Given the description of an element on the screen output the (x, y) to click on. 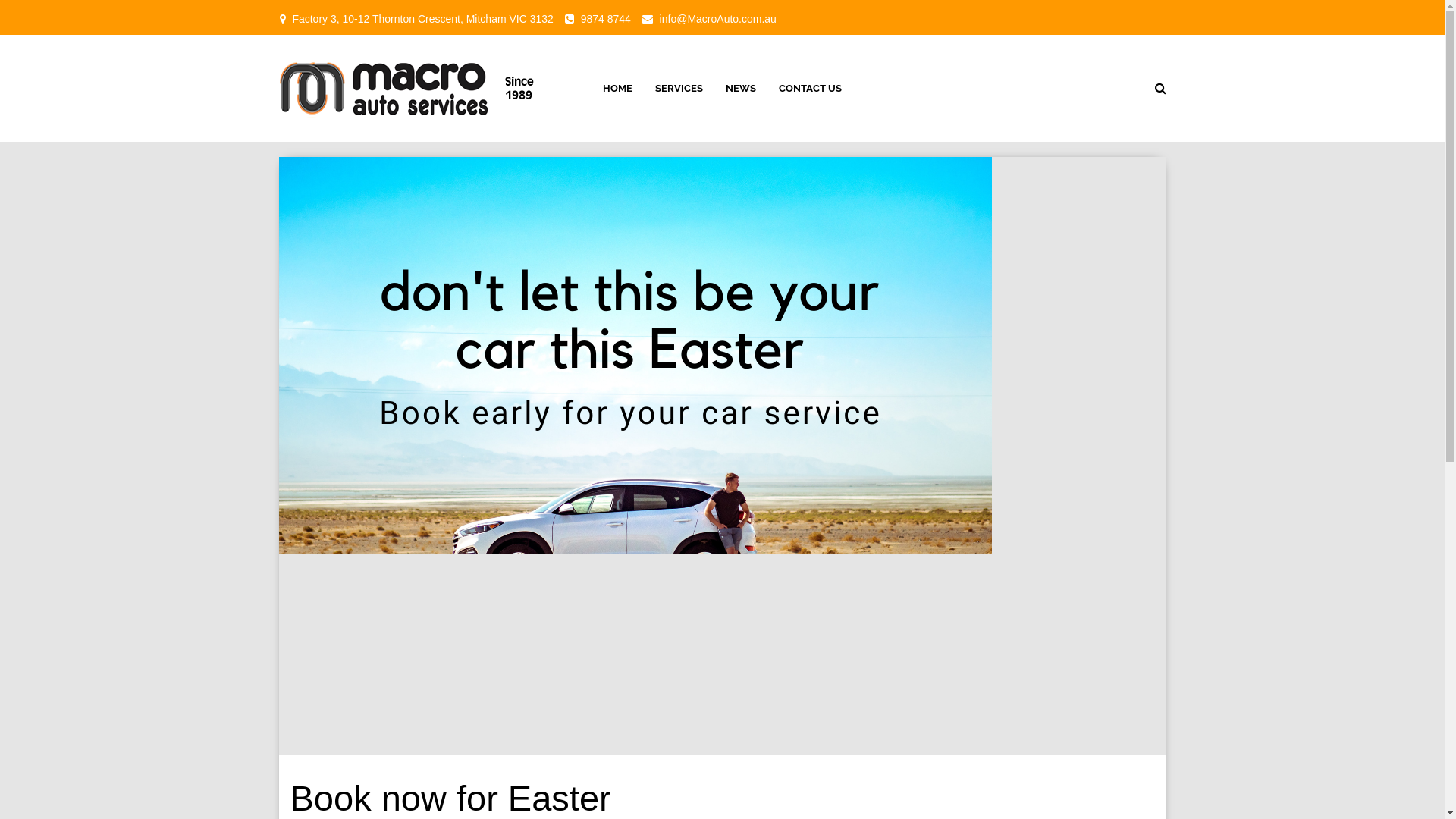
9874 8744 Element type: text (605, 18)
NEWS Element type: text (740, 88)
HOME Element type: text (617, 88)
info@MacroAuto.com.au Element type: text (717, 18)
SERVICES Element type: text (678, 88)
CONTACT US Element type: text (809, 88)
